Given the description of an element on the screen output the (x, y) to click on. 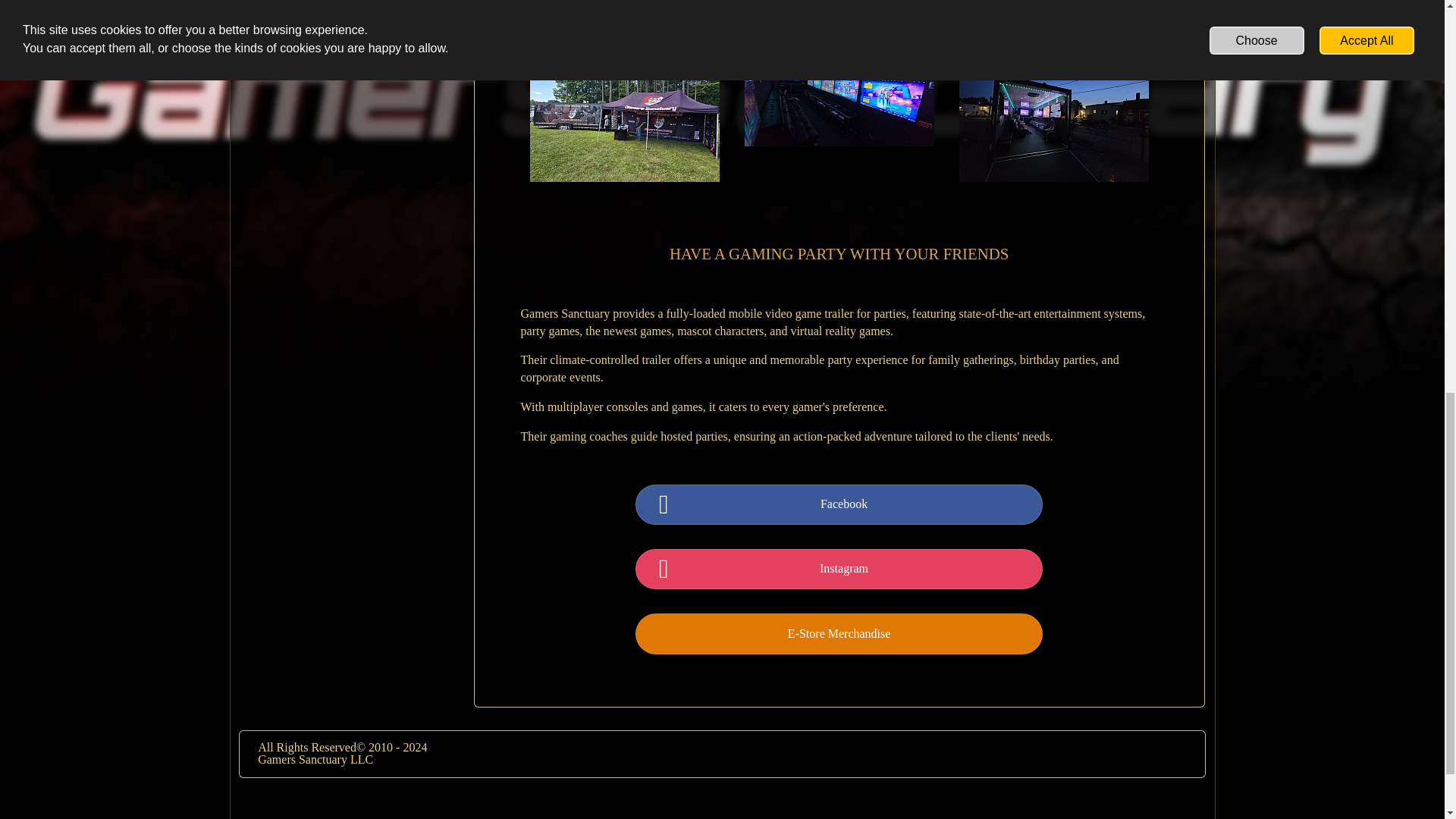
Facebook (844, 504)
E-Store Merchandise (838, 634)
February 24, 2024 (839, 6)
Instagram (844, 569)
